Given the description of an element on the screen output the (x, y) to click on. 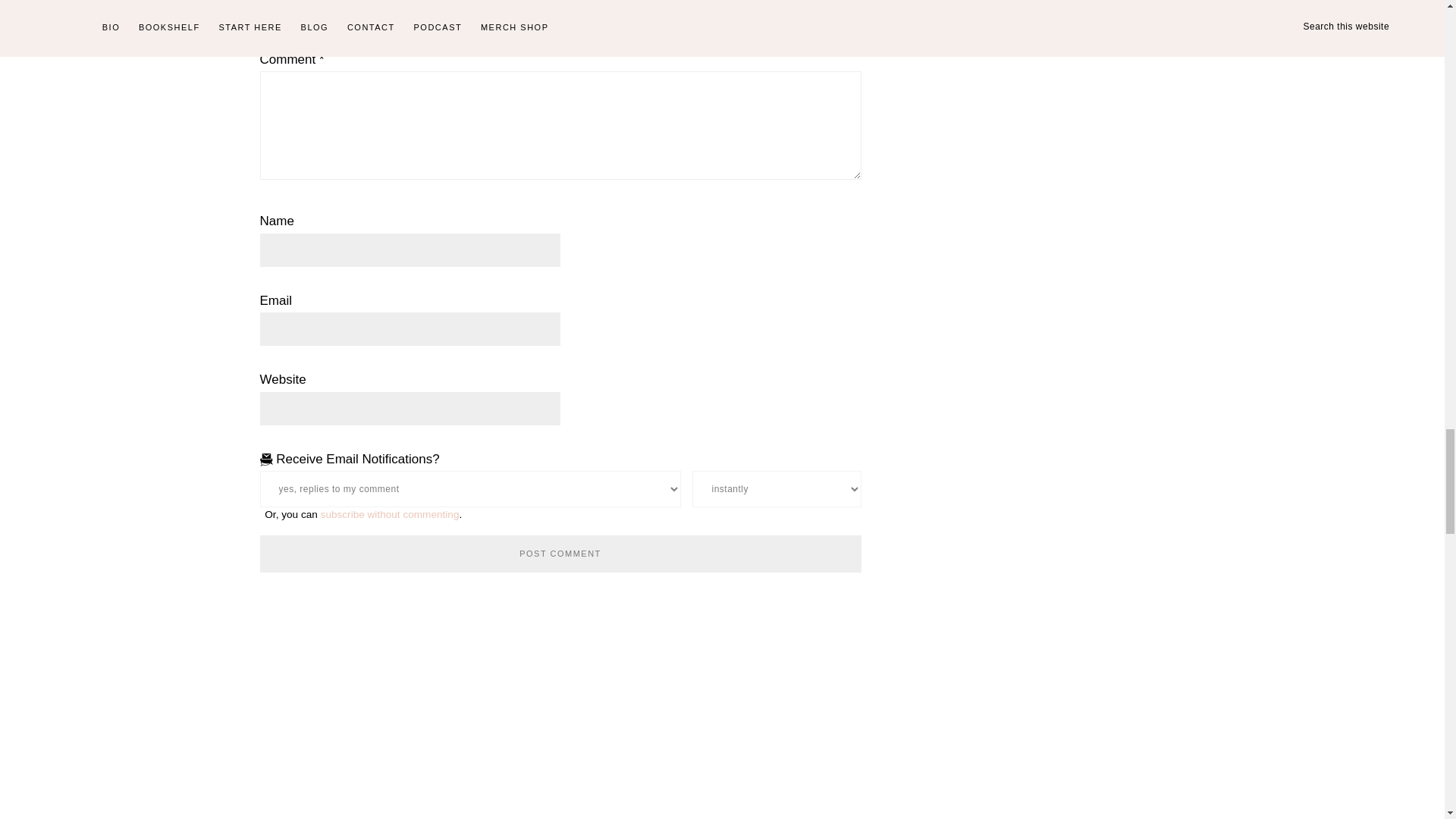
Notify Me (776, 488)
Post Comment (559, 553)
Receive Notifications? (469, 488)
